Given the description of an element on the screen output the (x, y) to click on. 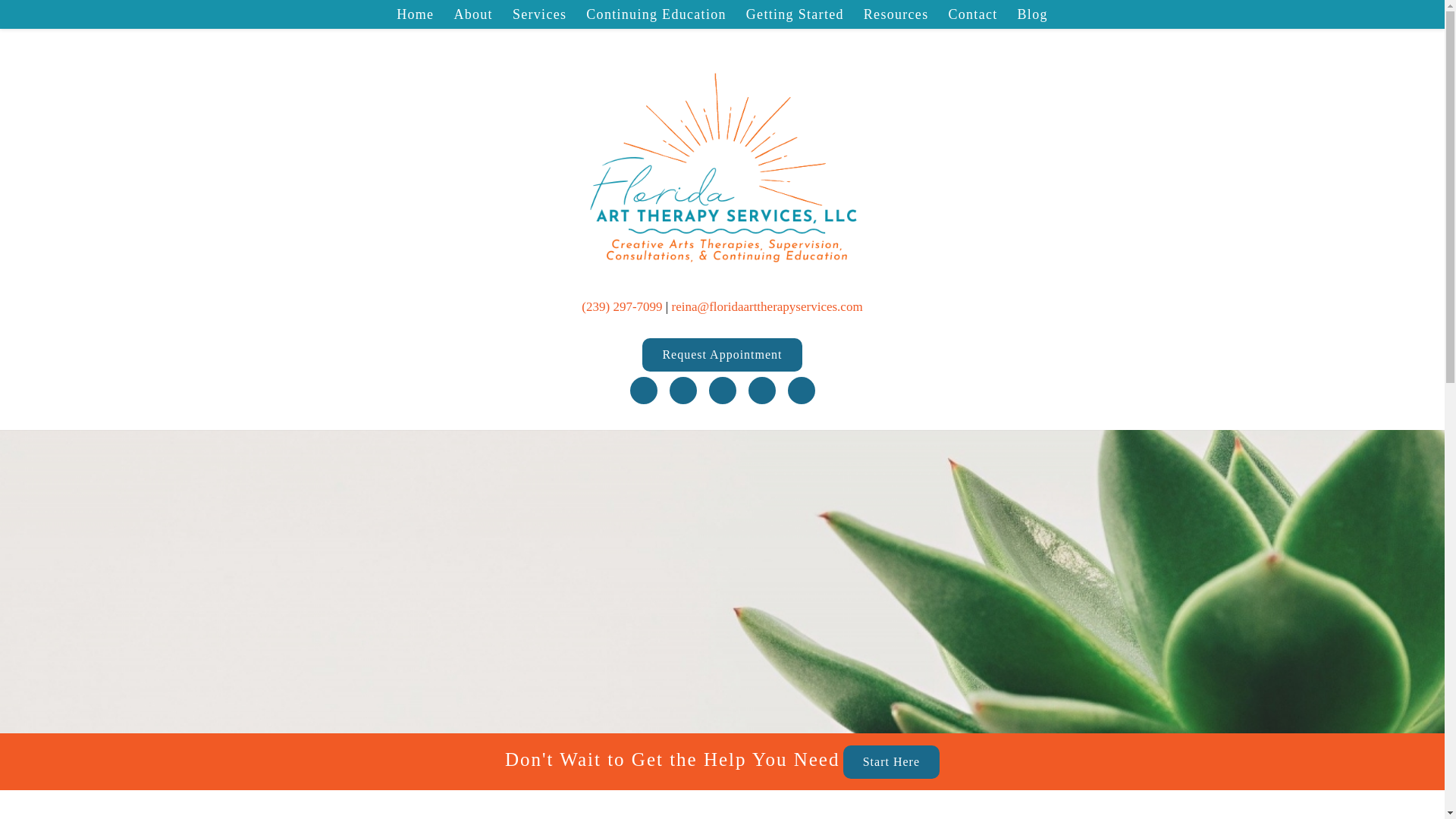
Continuing Education (655, 14)
Home (415, 14)
Contact (972, 14)
Getting Started (794, 14)
Services (539, 14)
Resources (896, 14)
About (473, 14)
Blog (1032, 14)
